Given the description of an element on the screen output the (x, y) to click on. 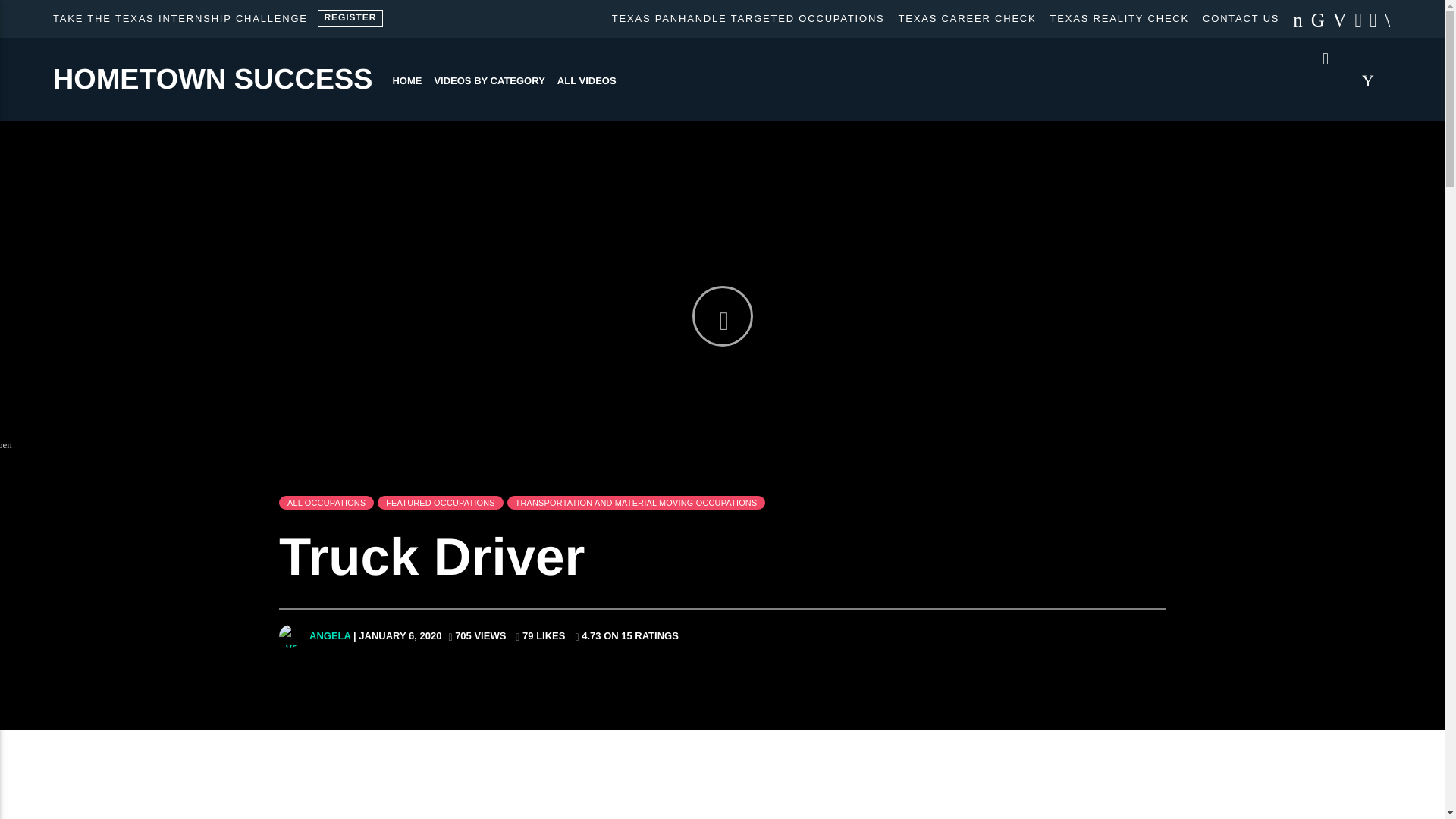
TEXAS CAREER CHECK (967, 18)
ALL VIDEOS (587, 80)
TEXAS PANHANDLE TARGETED OCCUPATIONS (748, 18)
VIDEOS BY CATEGORY (489, 80)
TRANSPORTATION AND MATERIAL MOVING OCCUPATIONS (635, 502)
FEATURED OCCUPATIONS (439, 502)
TEXAS REALITY CHECK (1119, 18)
ALL OCCUPATIONS (326, 502)
REGISTER (349, 17)
CONTACT US (1240, 18)
